Given the description of an element on the screen output the (x, y) to click on. 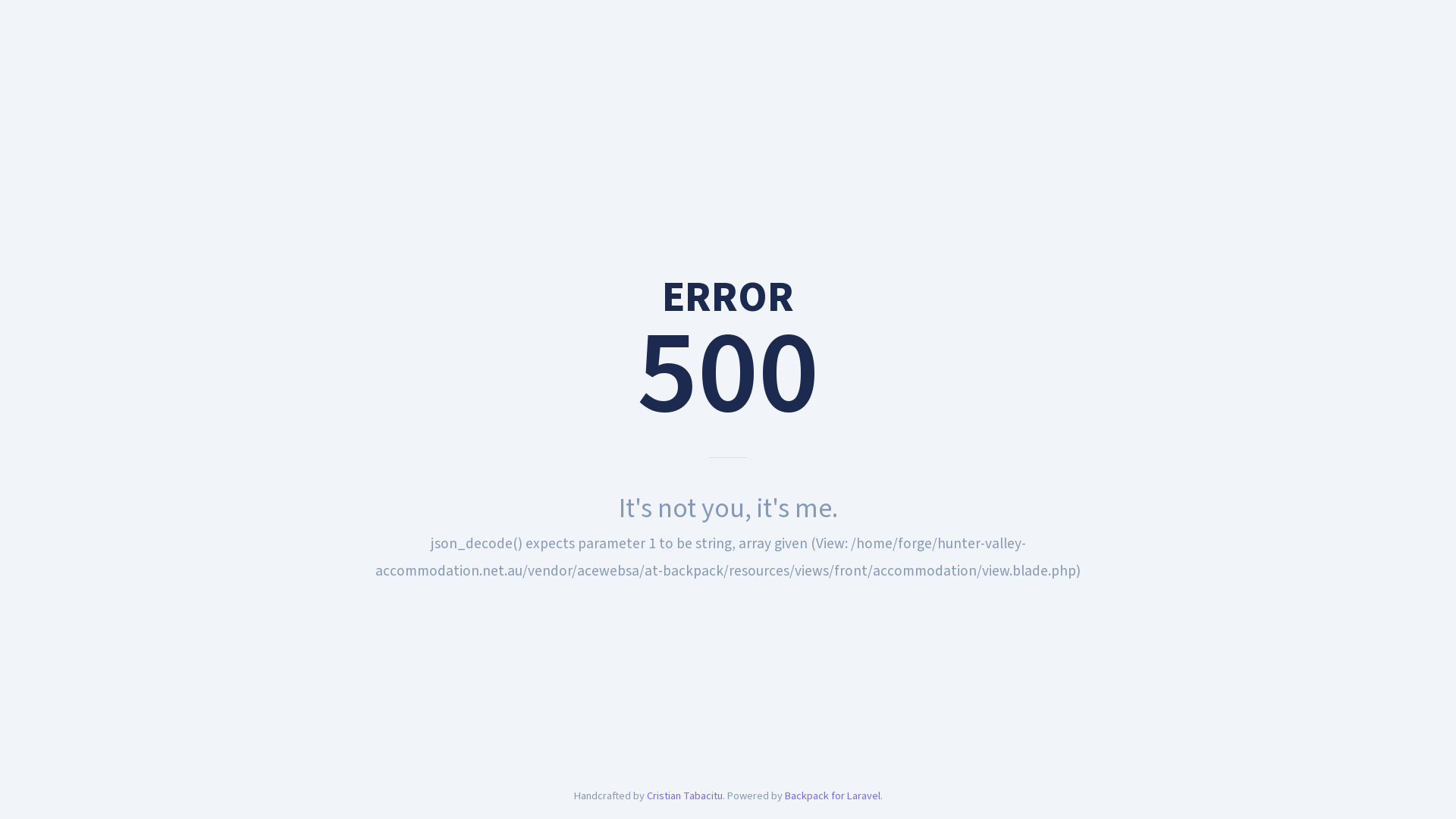
Backpack for Laravel Element type: text (831, 795)
Cristian Tabacitu Element type: text (683, 795)
